Given the description of an element on the screen output the (x, y) to click on. 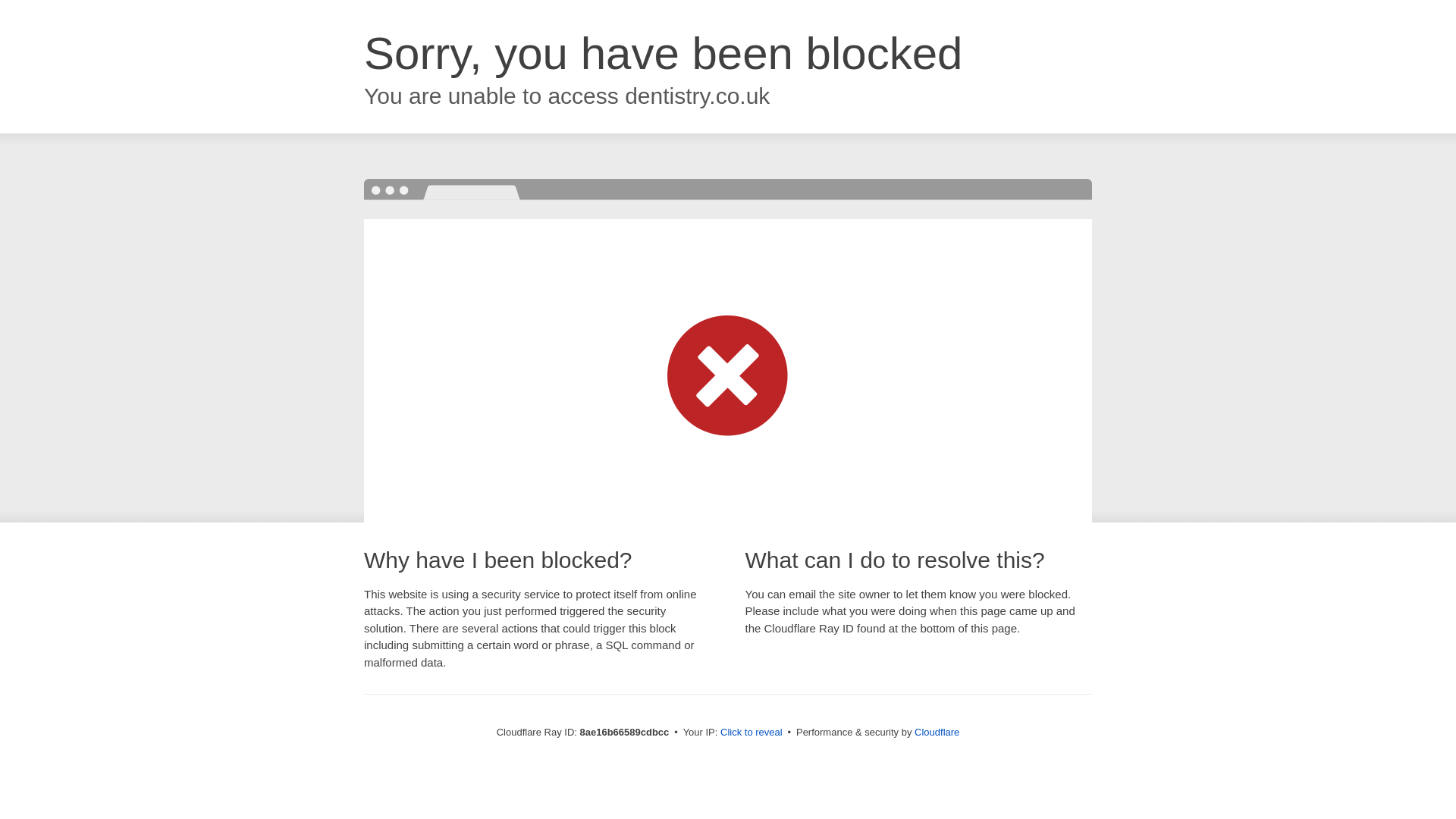
Click to reveal (751, 732)
Cloudflare (936, 731)
